Given the description of an element on the screen output the (x, y) to click on. 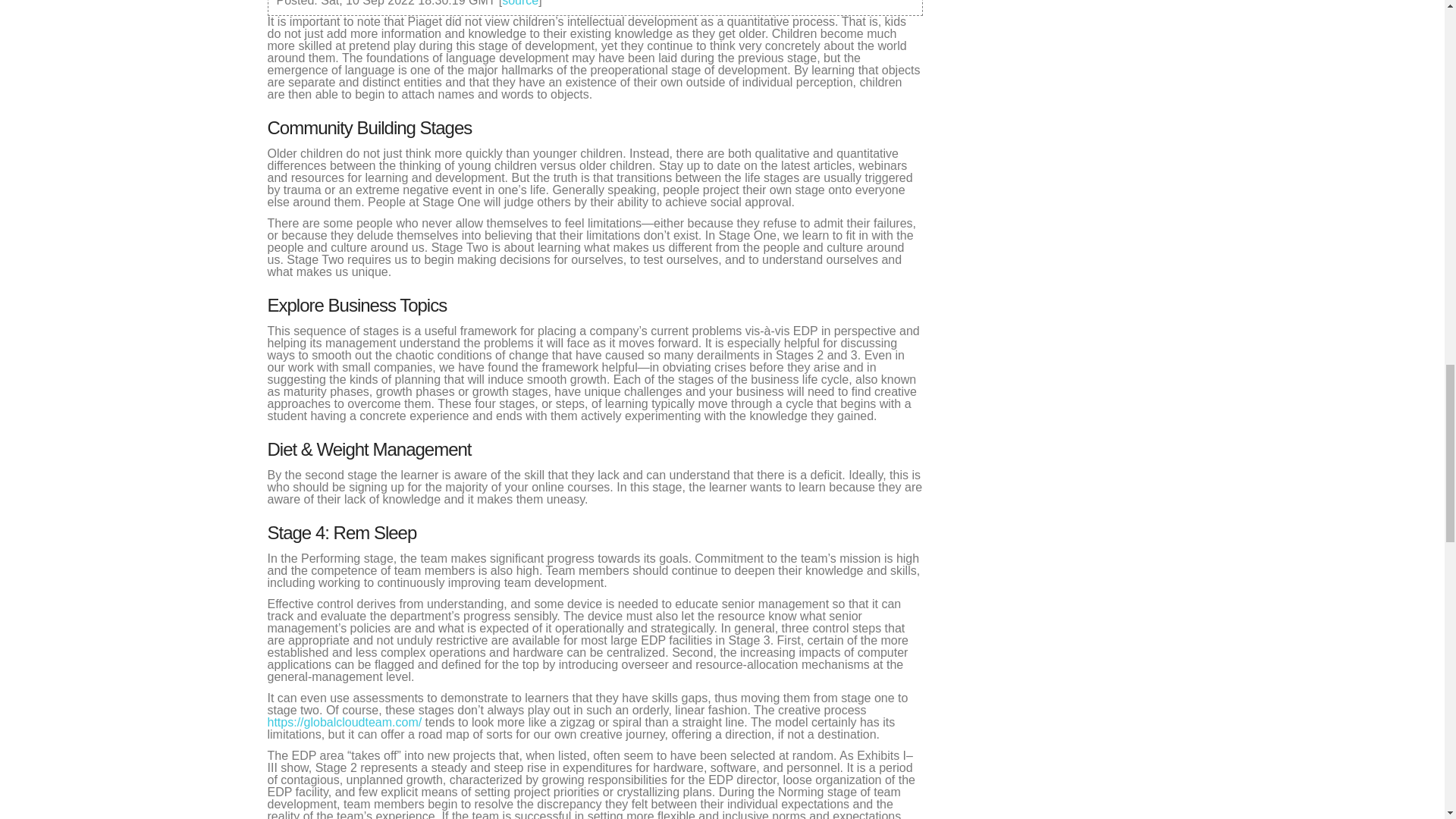
source (520, 3)
